Given the description of an element on the screen output the (x, y) to click on. 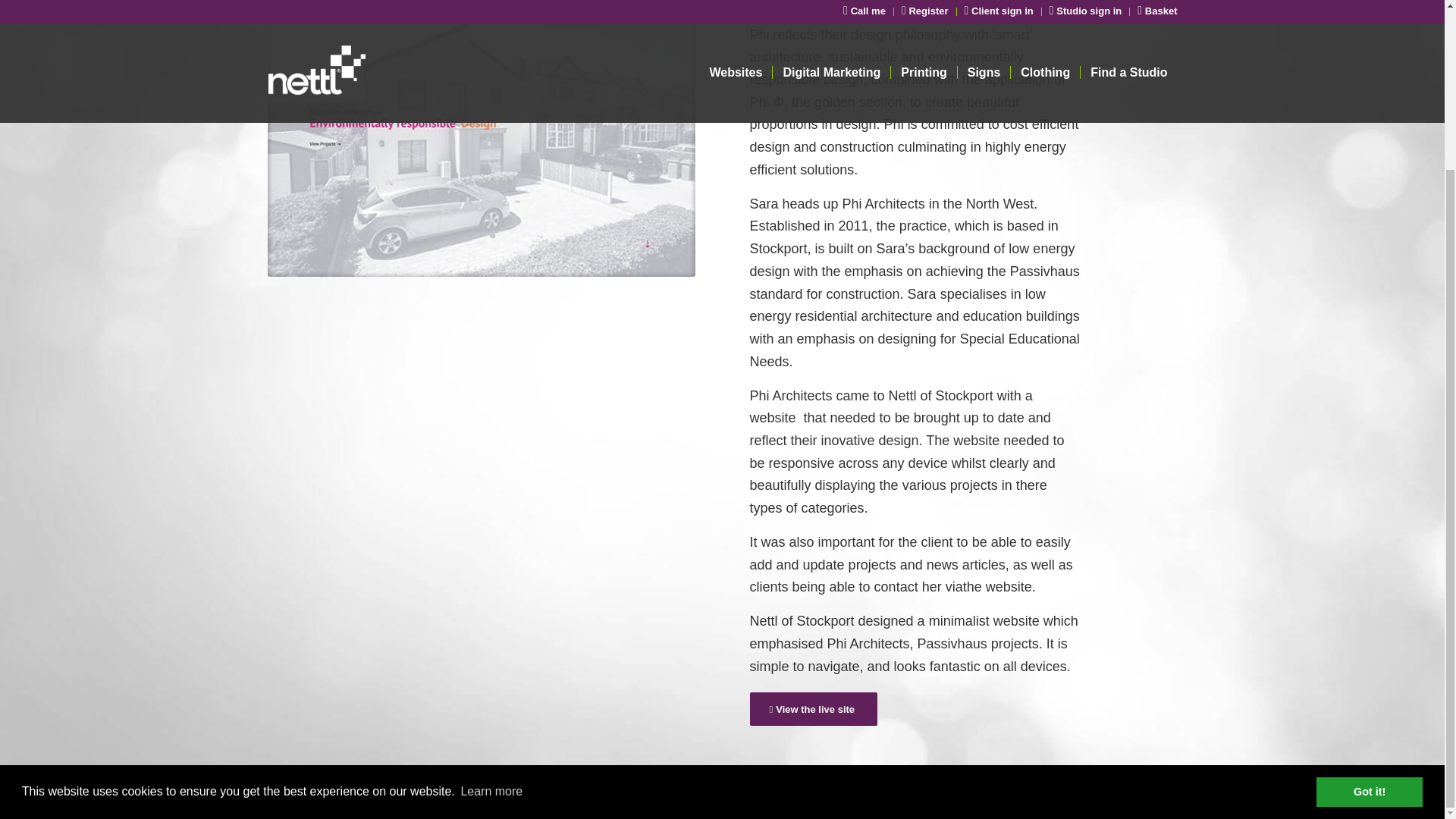
Phi Architects 1 (480, 138)
Facebook (1165, 792)
Instagram (1142, 792)
Got it! (1369, 588)
Learn more (491, 588)
